Given the description of an element on the screen output the (x, y) to click on. 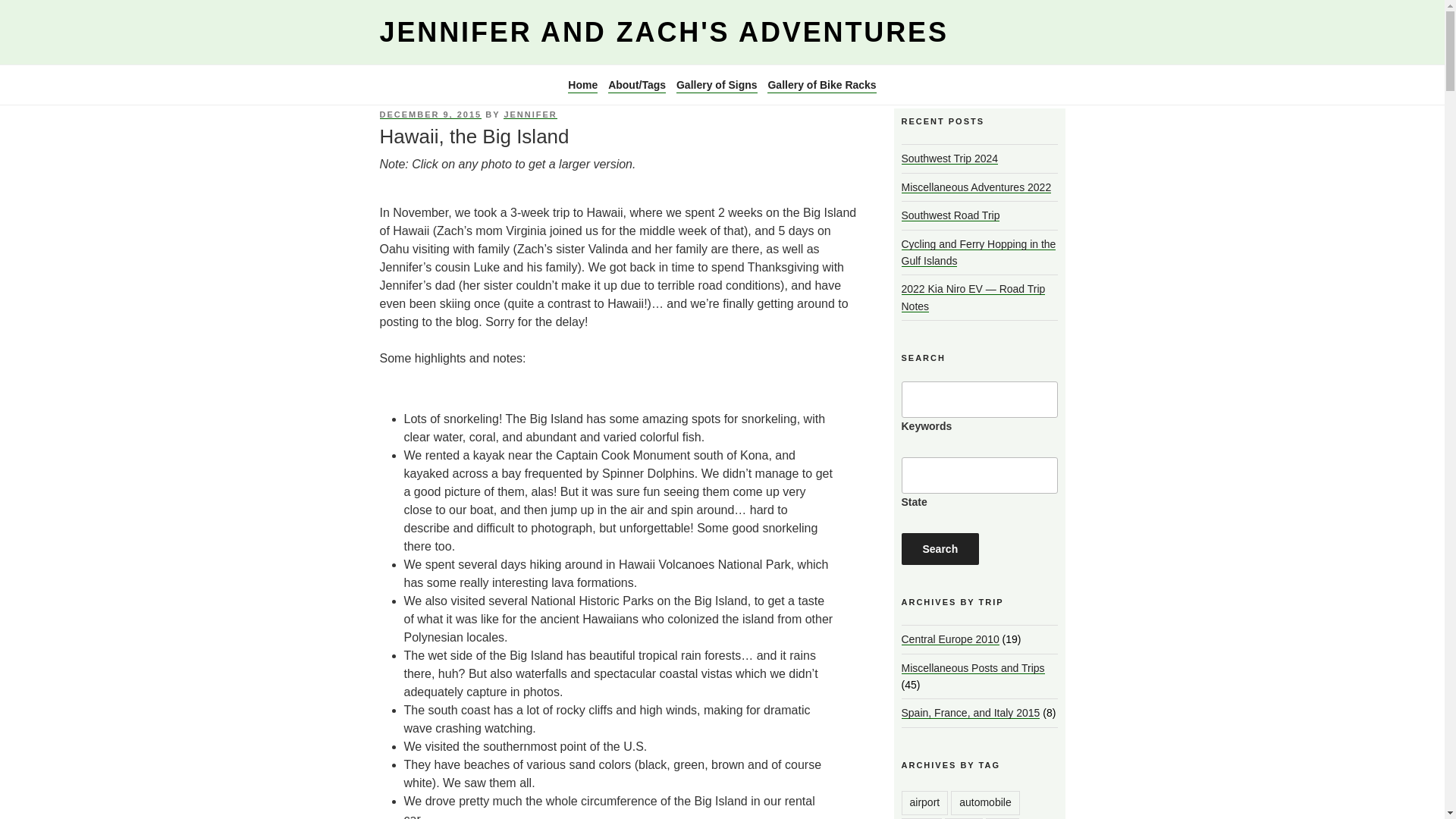
Gallery of Signs (717, 84)
JENNIFER (529, 113)
JENNIFER AND ZACH'S ADVENTURES (662, 31)
Search (939, 549)
DECEMBER 9, 2015 (429, 113)
Home (581, 84)
Gallery of Bike Racks (821, 84)
